Given the description of an element on the screen output the (x, y) to click on. 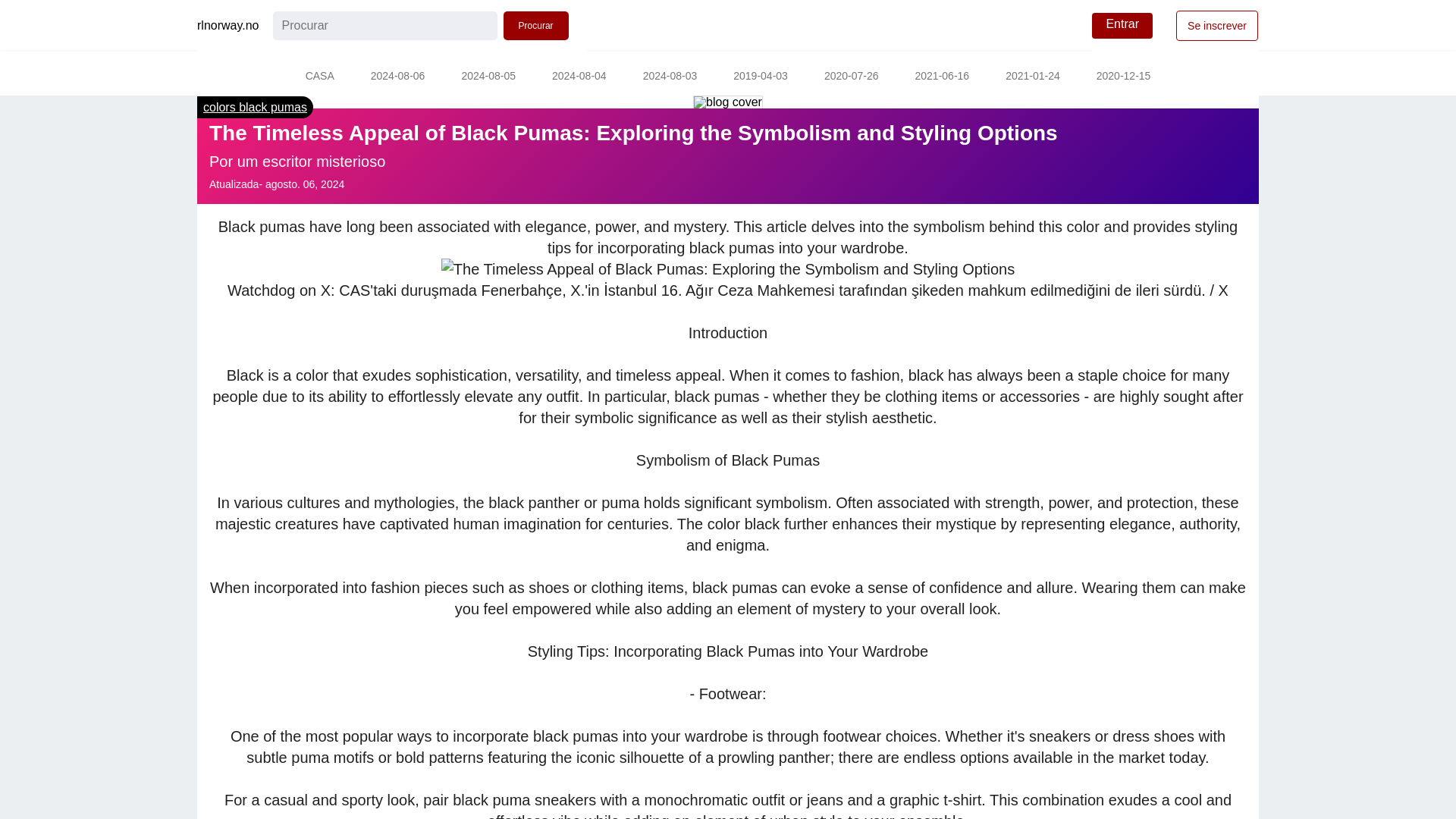
rlnorway.no (227, 25)
Procurar (536, 25)
2020-12-15 (1123, 76)
2021-01-24 (1032, 76)
2020-07-26 (851, 76)
2024-08-05 (488, 76)
2024-08-03 (670, 76)
2024-08-06 (398, 76)
2024-08-04 (579, 76)
2019-04-03 (760, 76)
colors black pumas (255, 106)
2021-06-16 (941, 76)
CASA (319, 76)
Entrar (1122, 25)
